Given the description of an element on the screen output the (x, y) to click on. 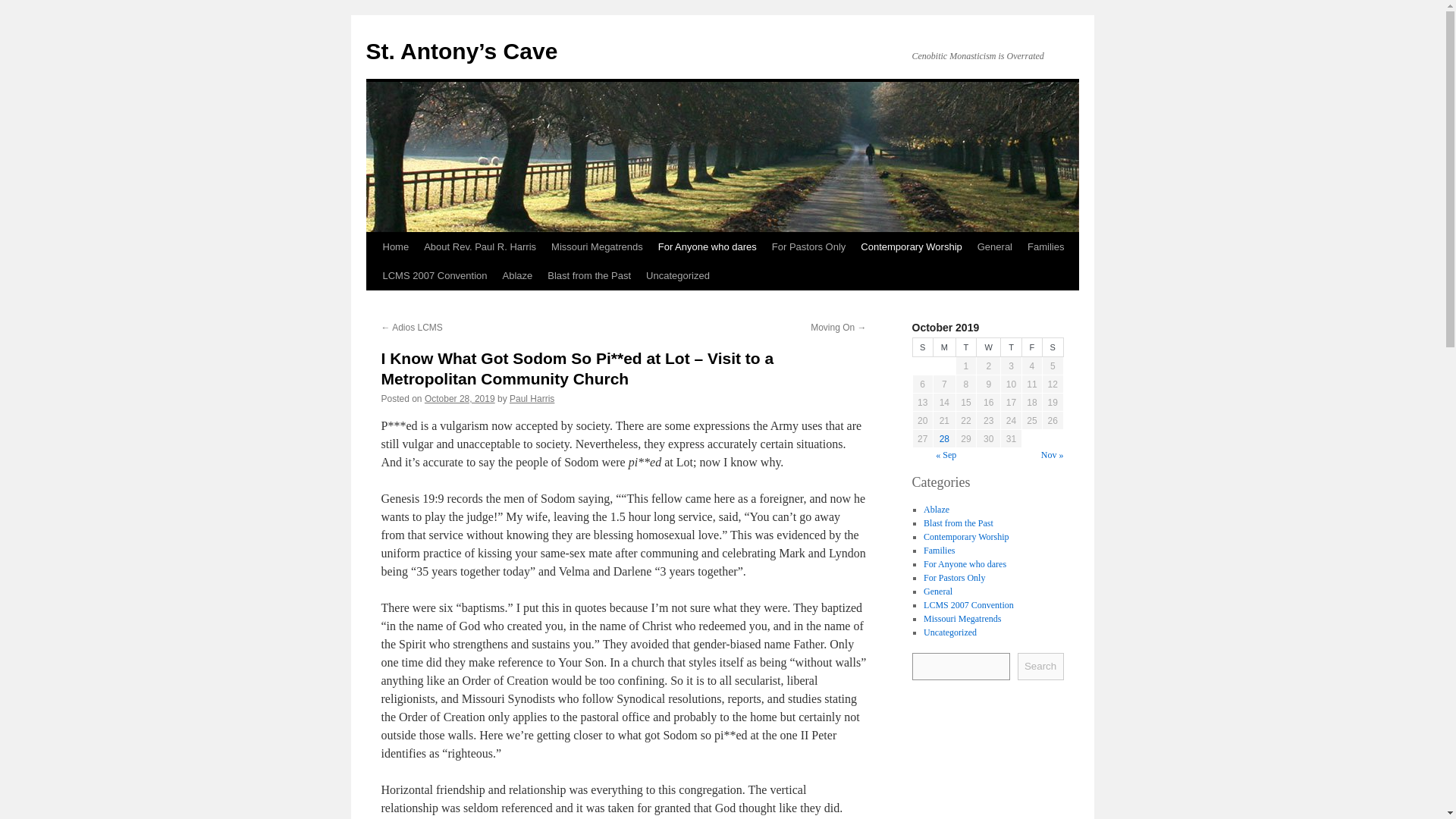
For Anyone who dares (964, 562)
For Pastors Only (808, 246)
Families (1045, 246)
Thursday (1011, 347)
Ablaze (936, 508)
Wednesday (988, 347)
Skip to content (372, 274)
Saturday (1052, 347)
Missouri Megatrends (596, 246)
Monday (944, 347)
About Rev. Paul R. Harris (479, 246)
Uncategorized (678, 275)
Ablaze (517, 275)
LCMS 2007 Convention (434, 275)
Search (1040, 665)
